Given the description of an element on the screen output the (x, y) to click on. 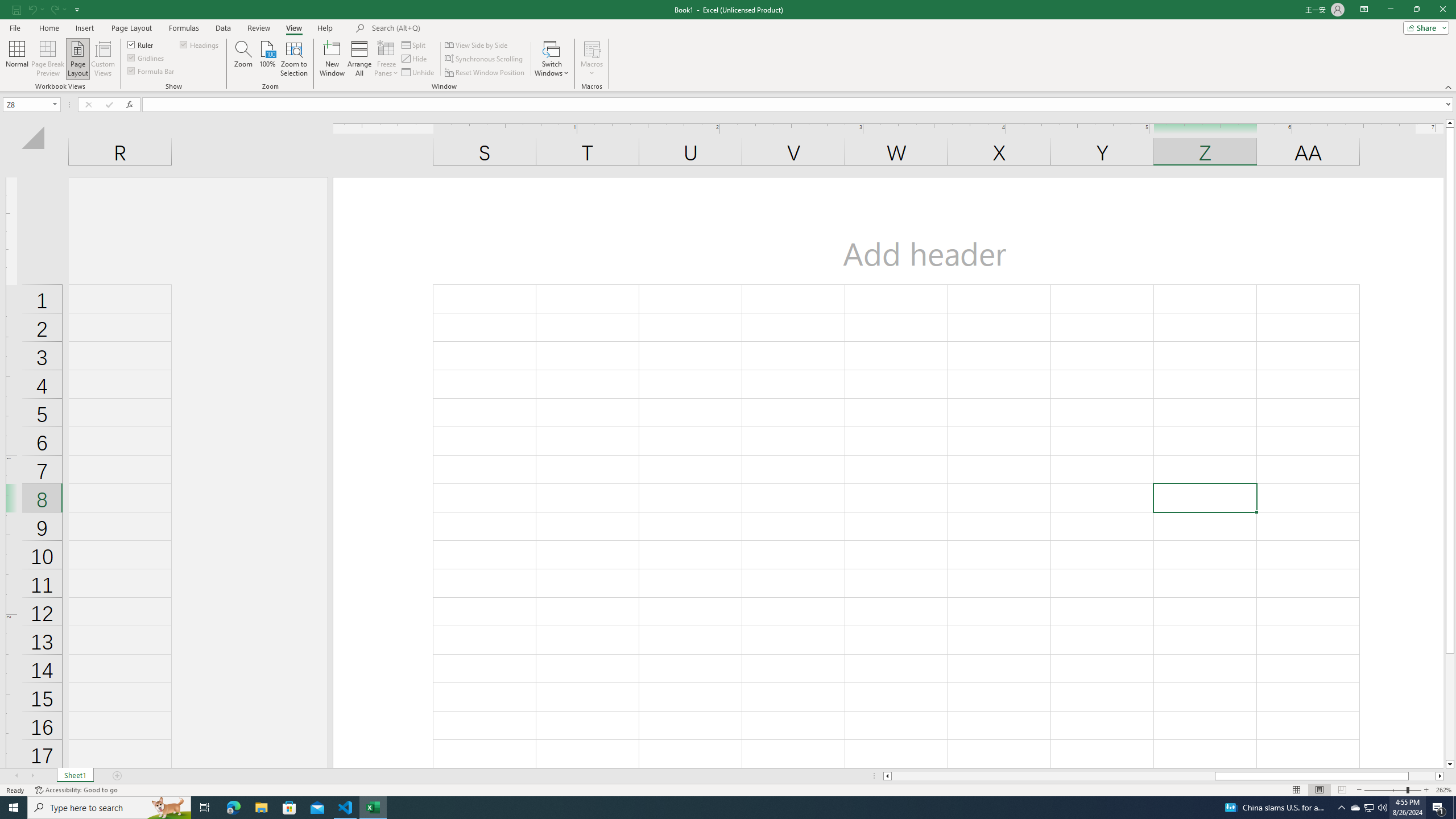
Ruler (141, 44)
Switch Windows (551, 58)
Arrange All (359, 58)
